Given the description of an element on the screen output the (x, y) to click on. 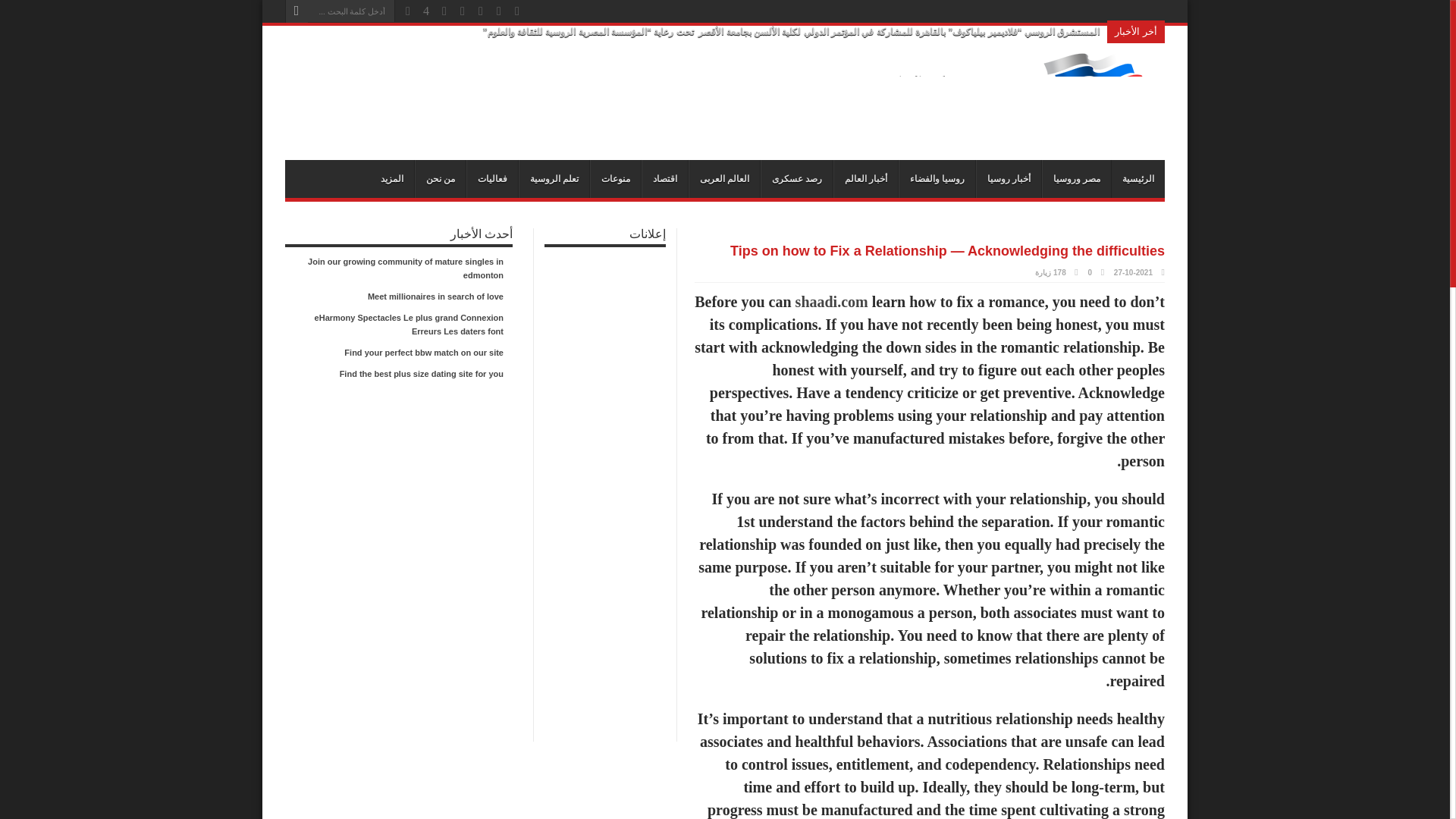
shaadi.com (830, 301)
